Given the description of an element on the screen output the (x, y) to click on. 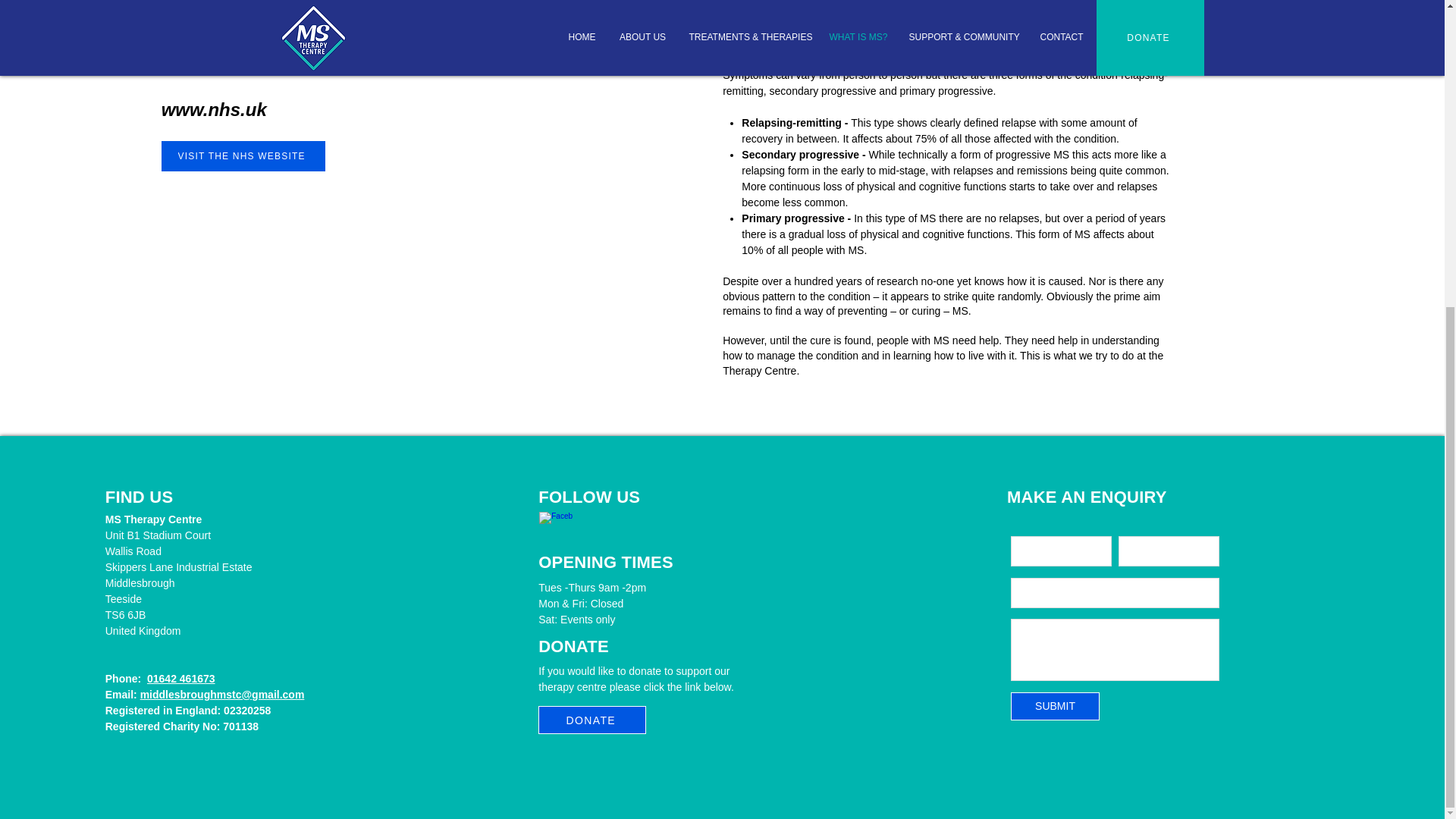
VISIT THE NHS WEBSITE (242, 155)
SUBMIT (1054, 706)
01642 461673 (181, 678)
DONATE (592, 719)
